Given the description of an element on the screen output the (x, y) to click on. 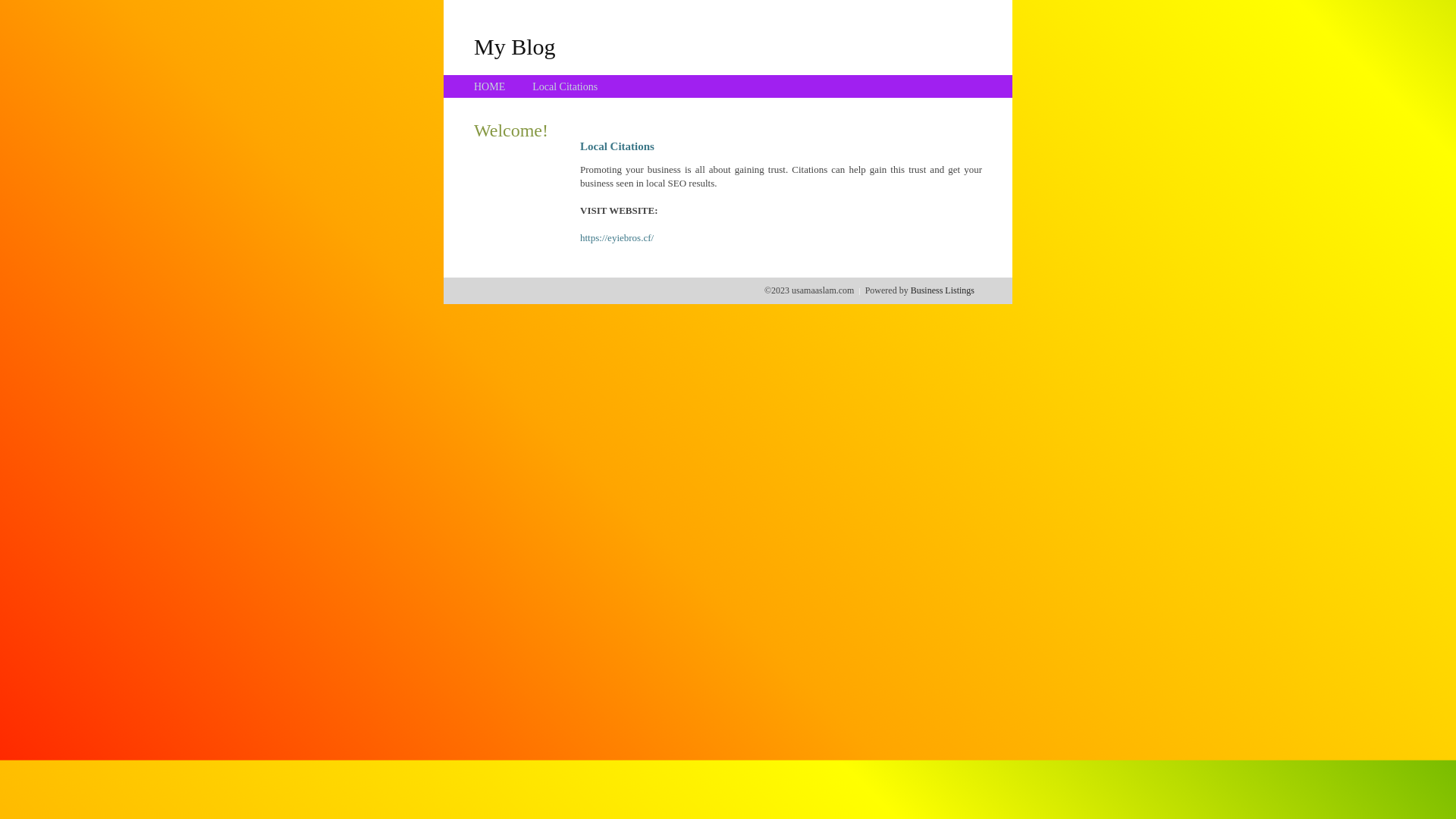
Local Citations Element type: text (564, 86)
My Blog Element type: text (514, 46)
HOME Element type: text (489, 86)
Business Listings Element type: text (942, 290)
https://eyiebros.cf/ Element type: text (616, 237)
